Given the description of an element on the screen output the (x, y) to click on. 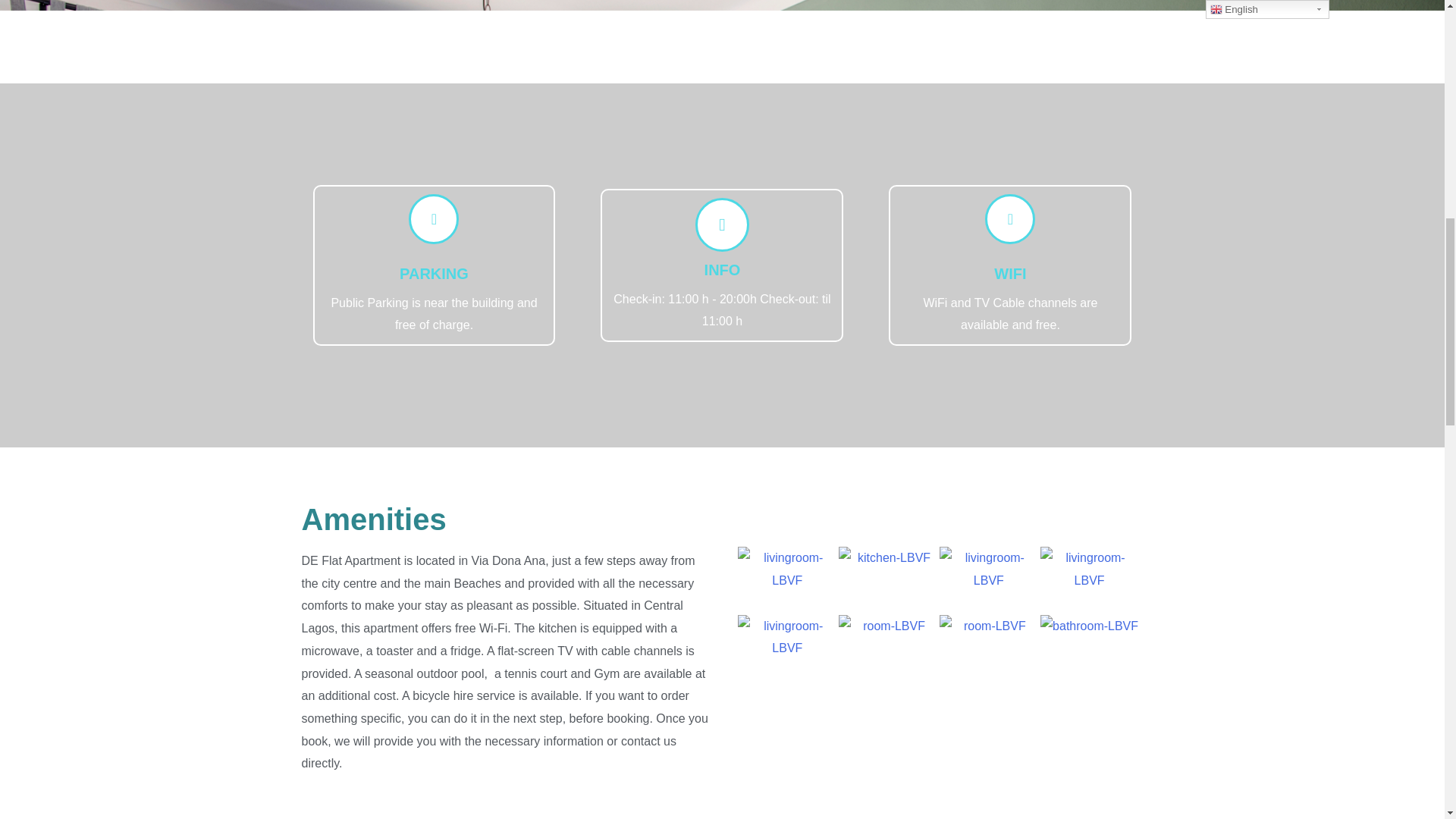
PARKING (433, 273)
INFO (722, 269)
WIFI (1010, 273)
Amenities (373, 519)
